Given the description of an element on the screen output the (x, y) to click on. 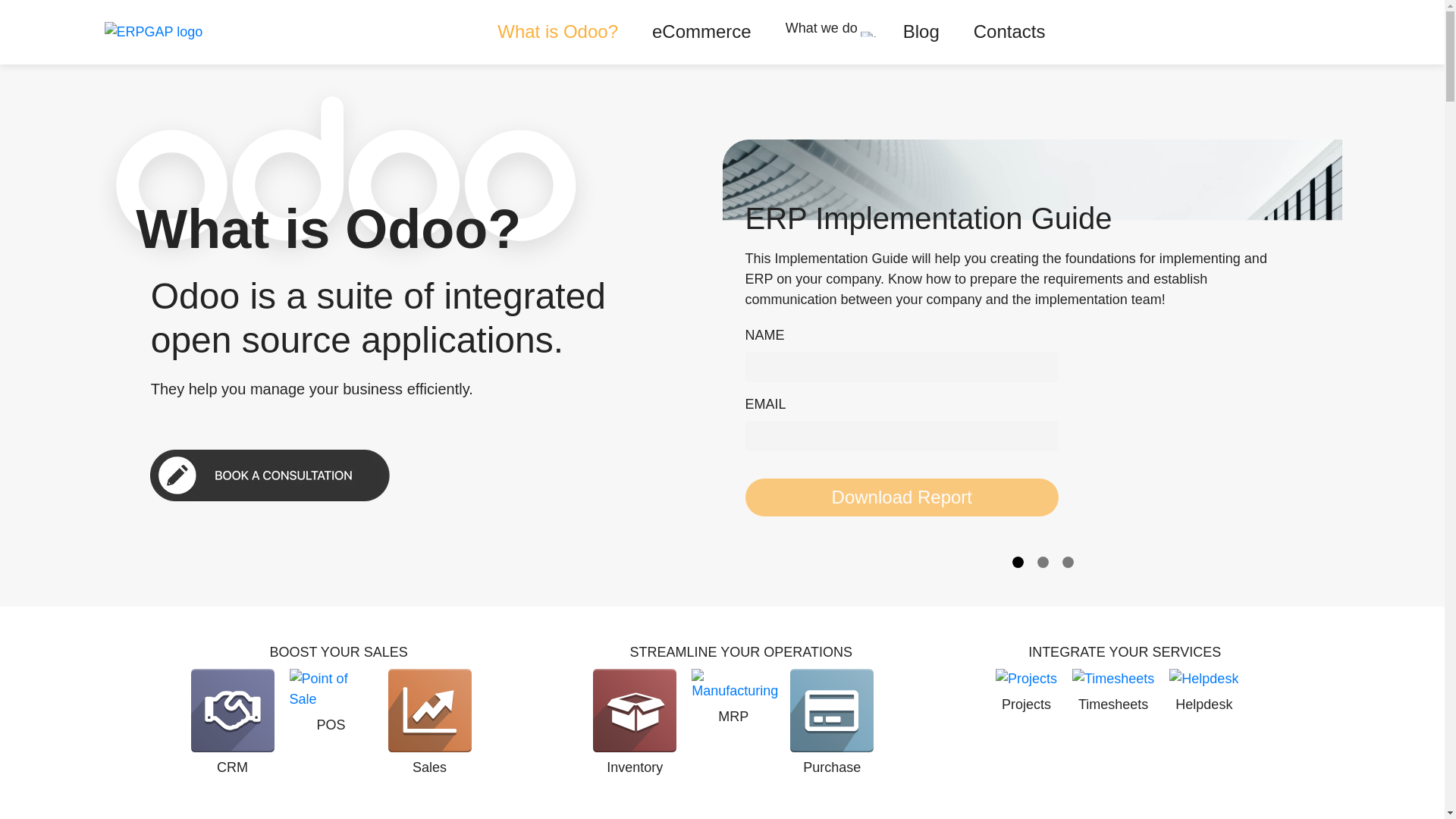
Download Report (901, 497)
Contacts (1124, 691)
eCommerce (1009, 31)
What we do (338, 722)
Blog (701, 31)
What is Odoo? (821, 28)
